Given the description of an element on the screen output the (x, y) to click on. 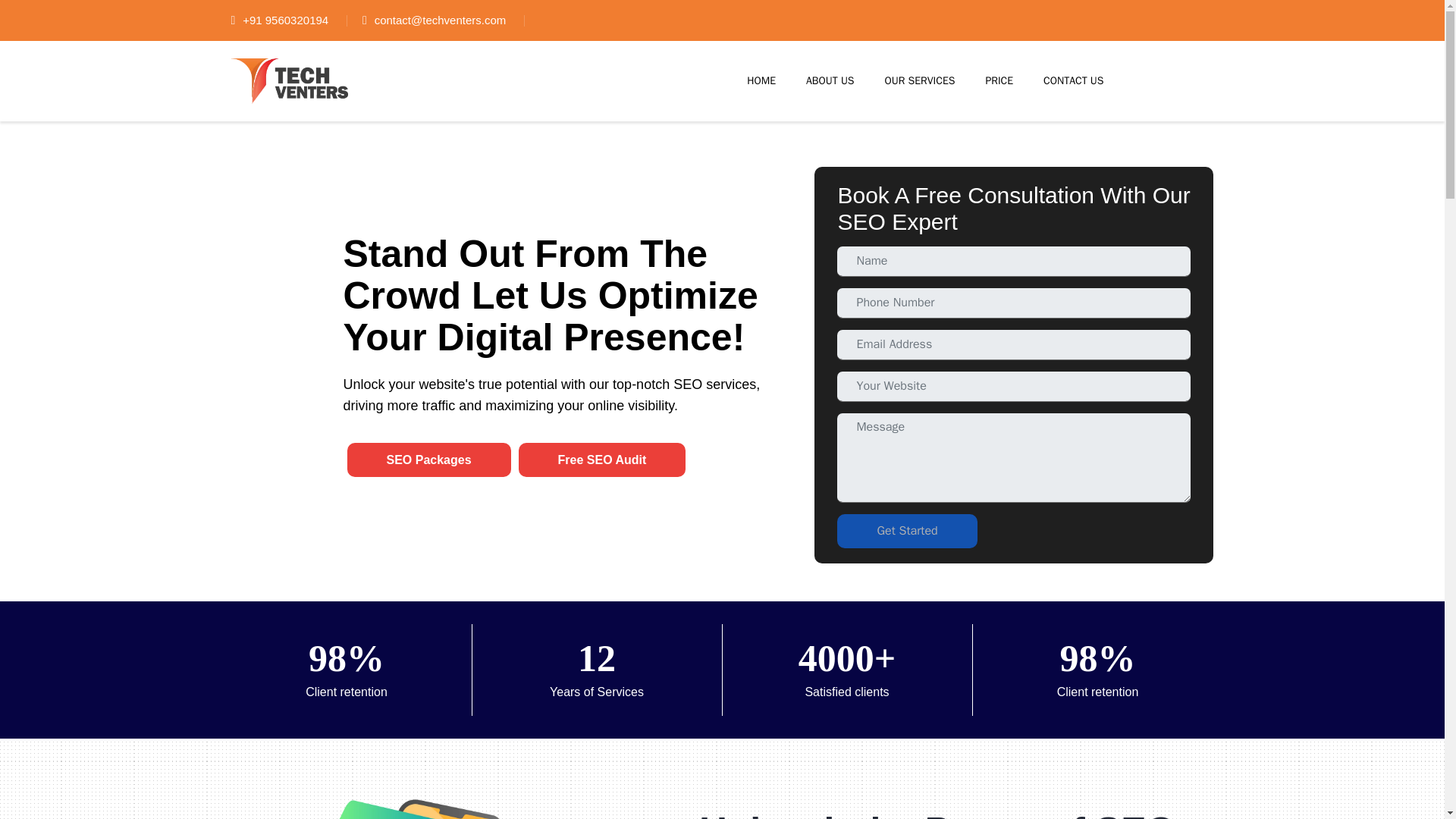
Free SEO Audit (601, 459)
ABOUT US (830, 80)
CONTACT US (1073, 80)
Get Started (906, 530)
OUR SERVICES (919, 80)
SEO Packages (429, 459)
Get Started (906, 530)
OUR SERVICES (919, 80)
CONTACT US (1073, 80)
ABOUT US (830, 80)
